Given the description of an element on the screen output the (x, y) to click on. 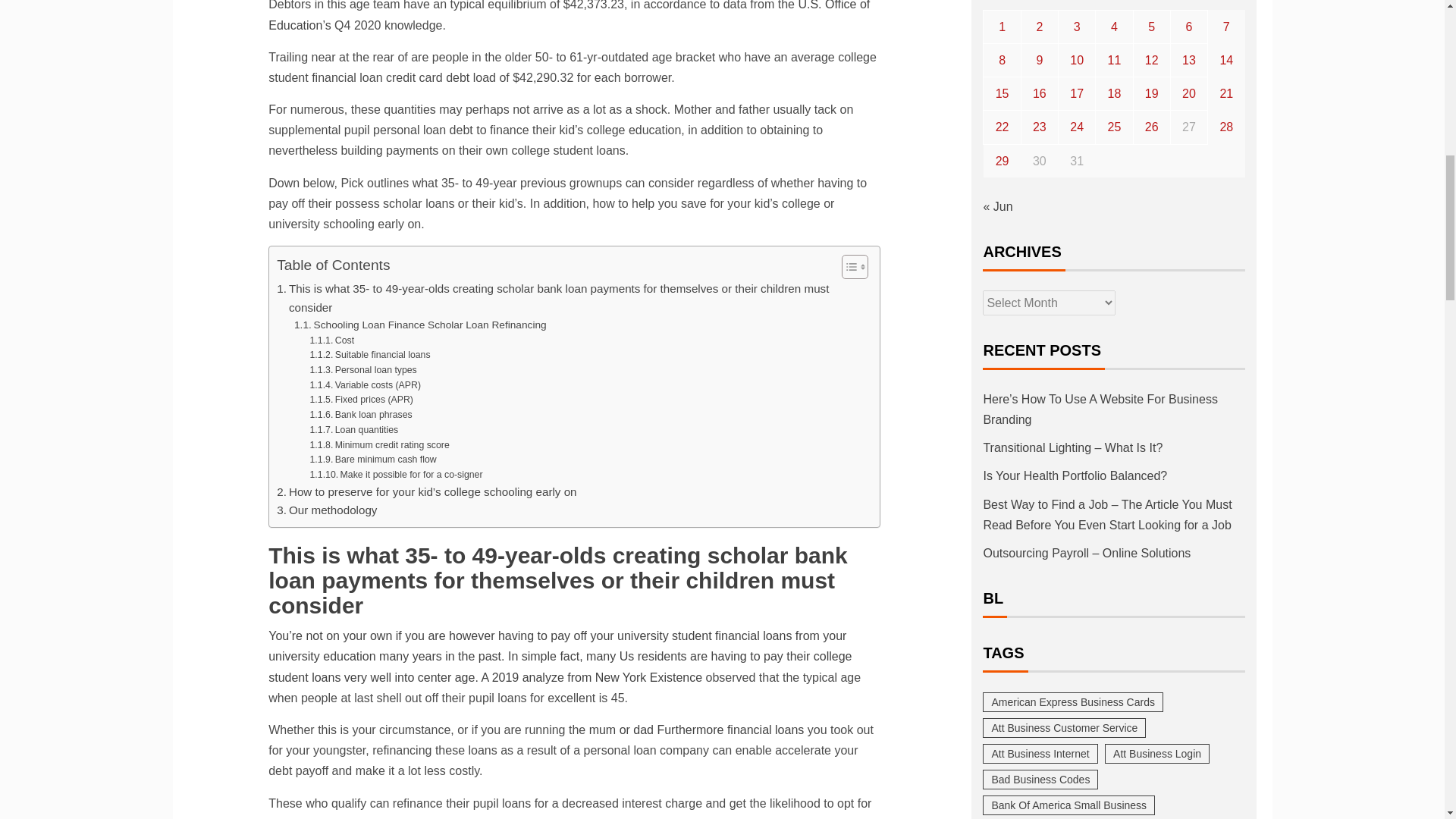
Schooling Loan Finance Scholar Loan Refinancing (420, 324)
Loan quantities (354, 430)
Bank loan phrases (361, 415)
Loan quantities (354, 430)
Personal loan types (363, 370)
Suitable financial loans (370, 355)
Bare minimum cash flow (373, 459)
Bank loan phrases (361, 415)
Cost (332, 340)
Schooling Loan Finance Scholar Loan Refinancing (420, 324)
Suitable financial loans (370, 355)
Personal loan types (363, 370)
Cost (332, 340)
